Given the description of an element on the screen output the (x, y) to click on. 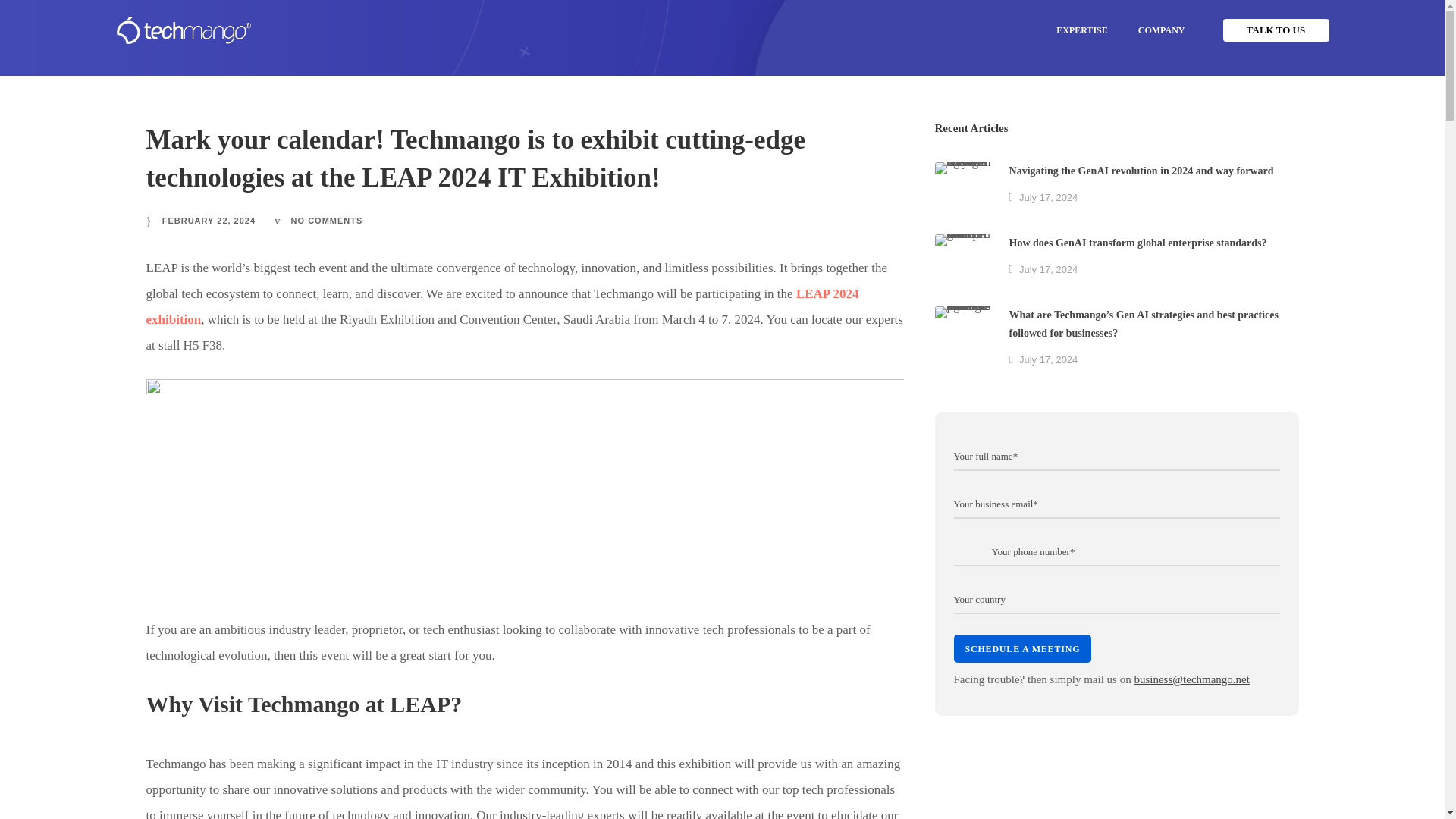
TALK TO US (1275, 29)
Navigating the GenAI revolution in 2024 and way forward (962, 190)
Schedule a Meeting (1022, 646)
EXPERTISE (1081, 29)
COMPANY (1160, 29)
How GenAI transforms global enterprise standards (962, 262)
